Given the description of an element on the screen output the (x, y) to click on. 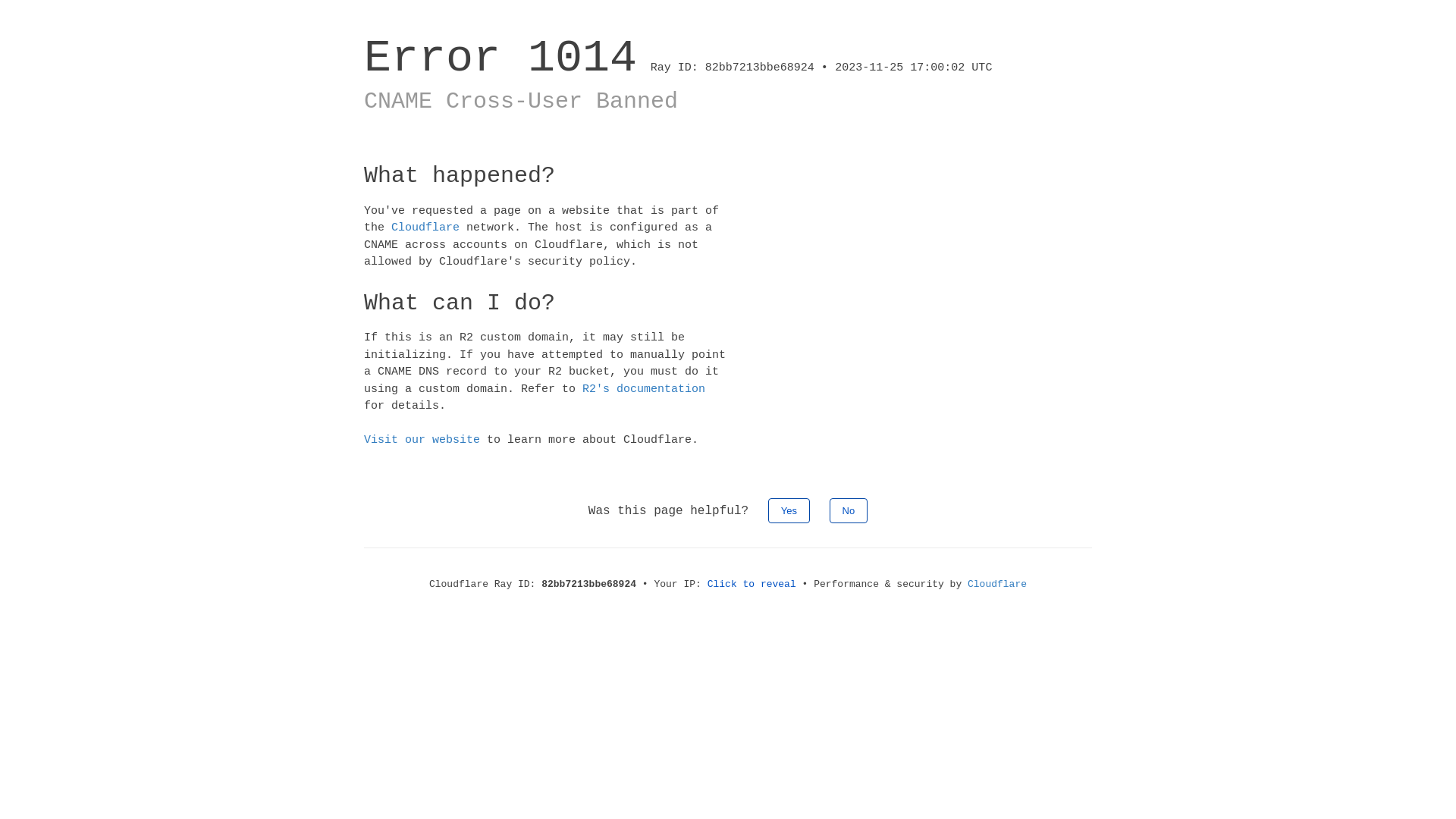
Cloudflare Element type: text (996, 583)
Click to reveal Element type: text (751, 583)
Yes Element type: text (788, 509)
R2's documentation Element type: text (643, 388)
Visit our website Element type: text (422, 439)
Cloudflare Element type: text (425, 227)
No Element type: text (848, 509)
